Given the description of an element on the screen output the (x, y) to click on. 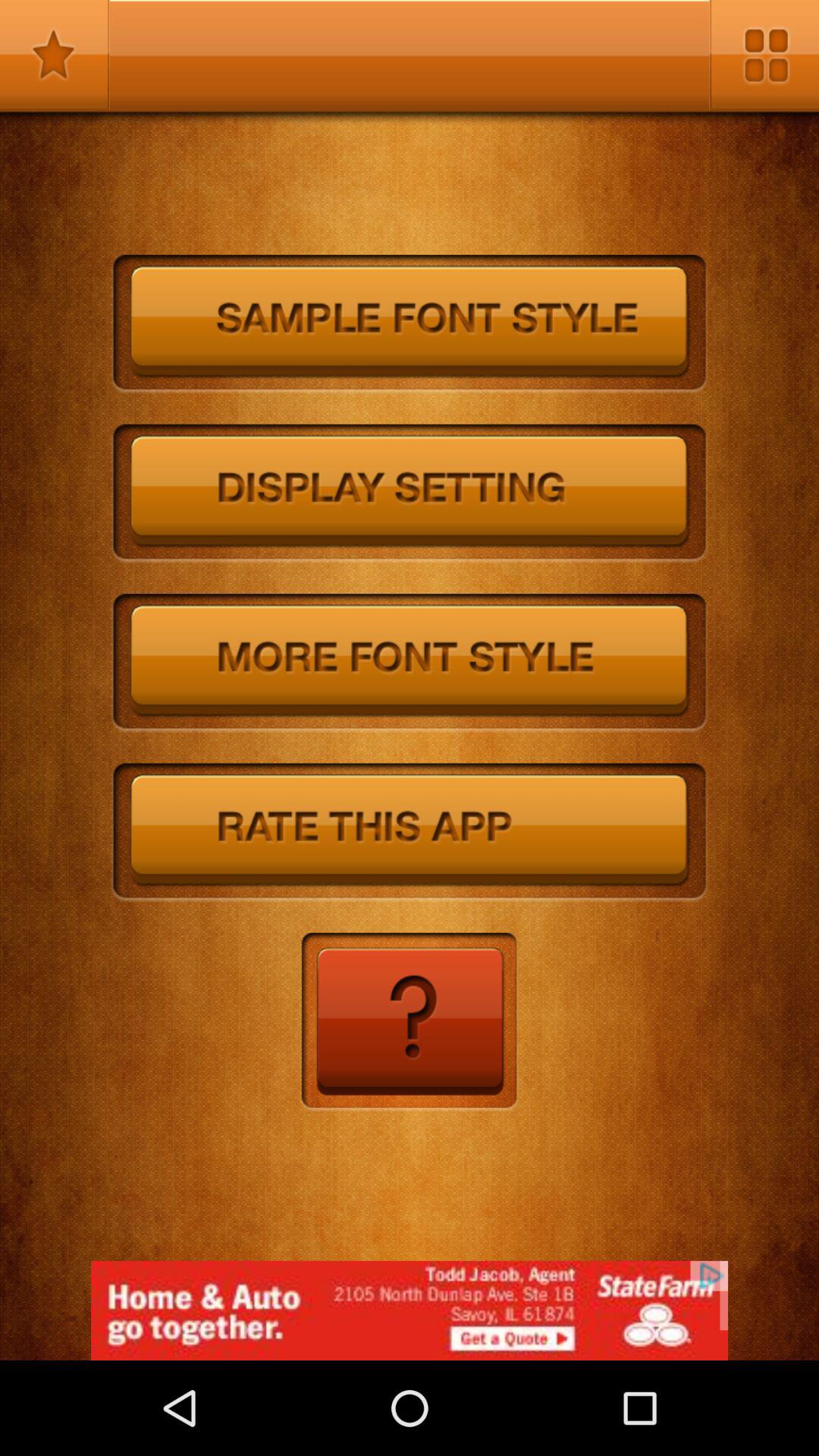
go to sample font size (409, 324)
